Given the description of an element on the screen output the (x, y) to click on. 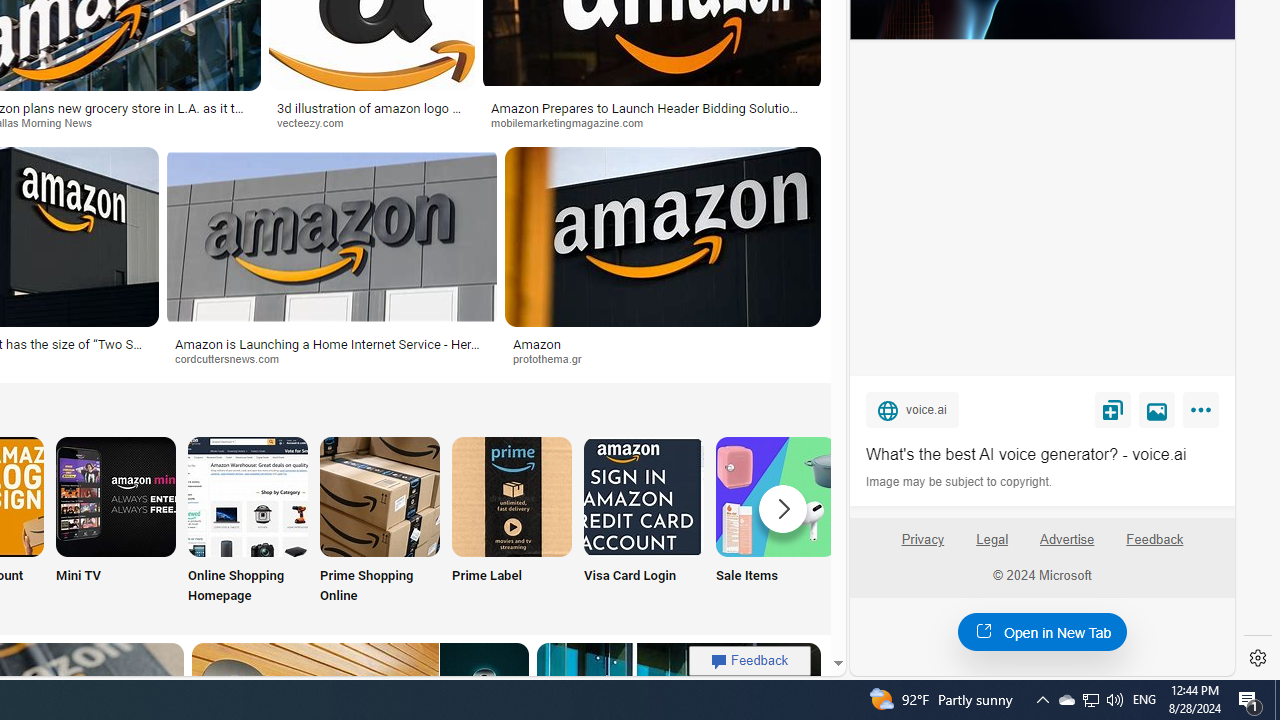
Amazon Visa Card Login (643, 496)
Save (1112, 409)
View image (1157, 409)
Feedback (1154, 547)
Privacy (922, 547)
Settings (1258, 658)
Open in New Tab (1042, 631)
protothema.gr (662, 359)
Amazon (536, 343)
Advertise (1067, 547)
mobilemarketingmagazine.com (574, 121)
